Given the description of an element on the screen output the (x, y) to click on. 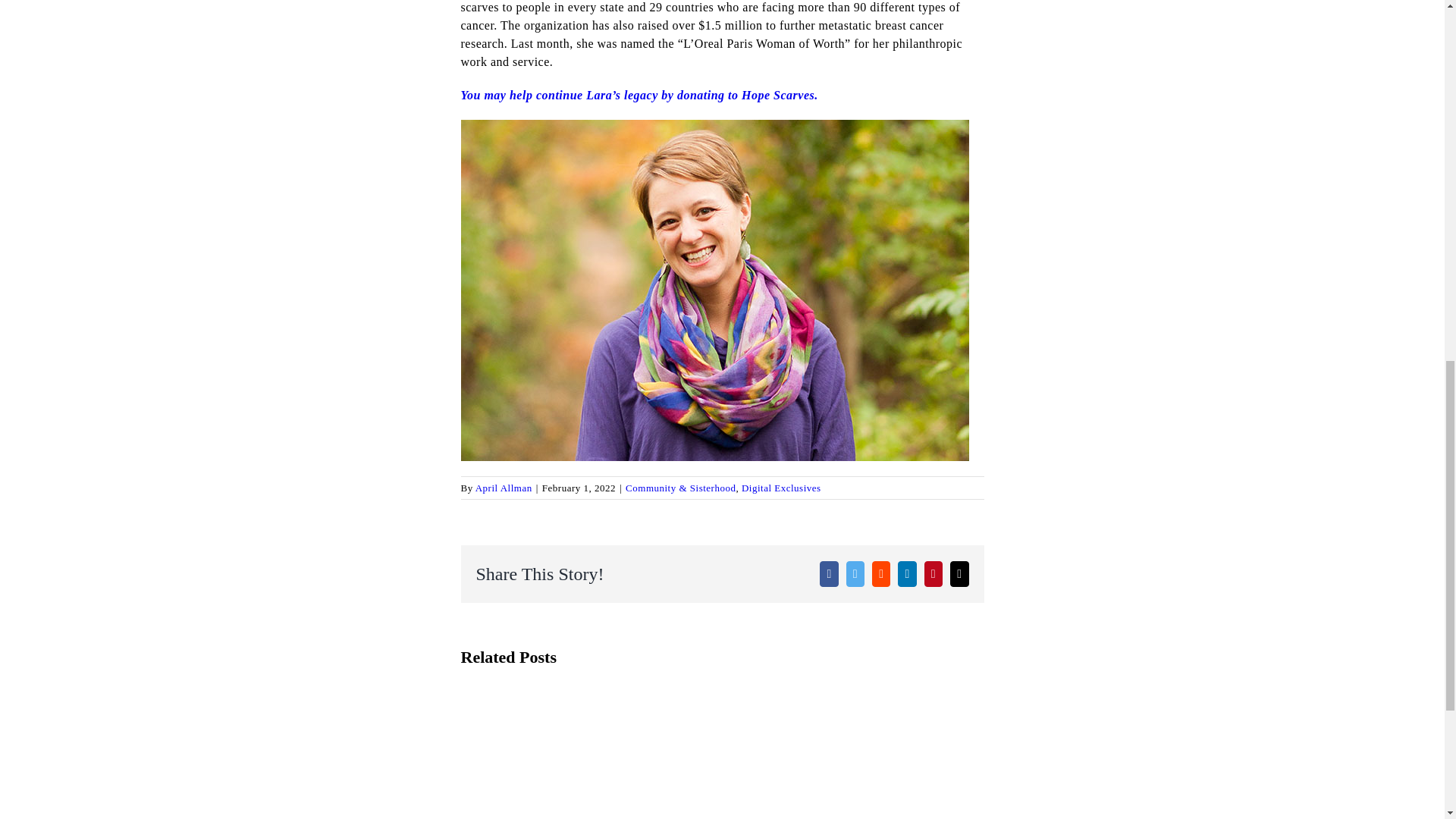
Digital Exclusives (781, 487)
Posts by April Allman (504, 487)
April Allman (504, 487)
